Given the description of an element on the screen output the (x, y) to click on. 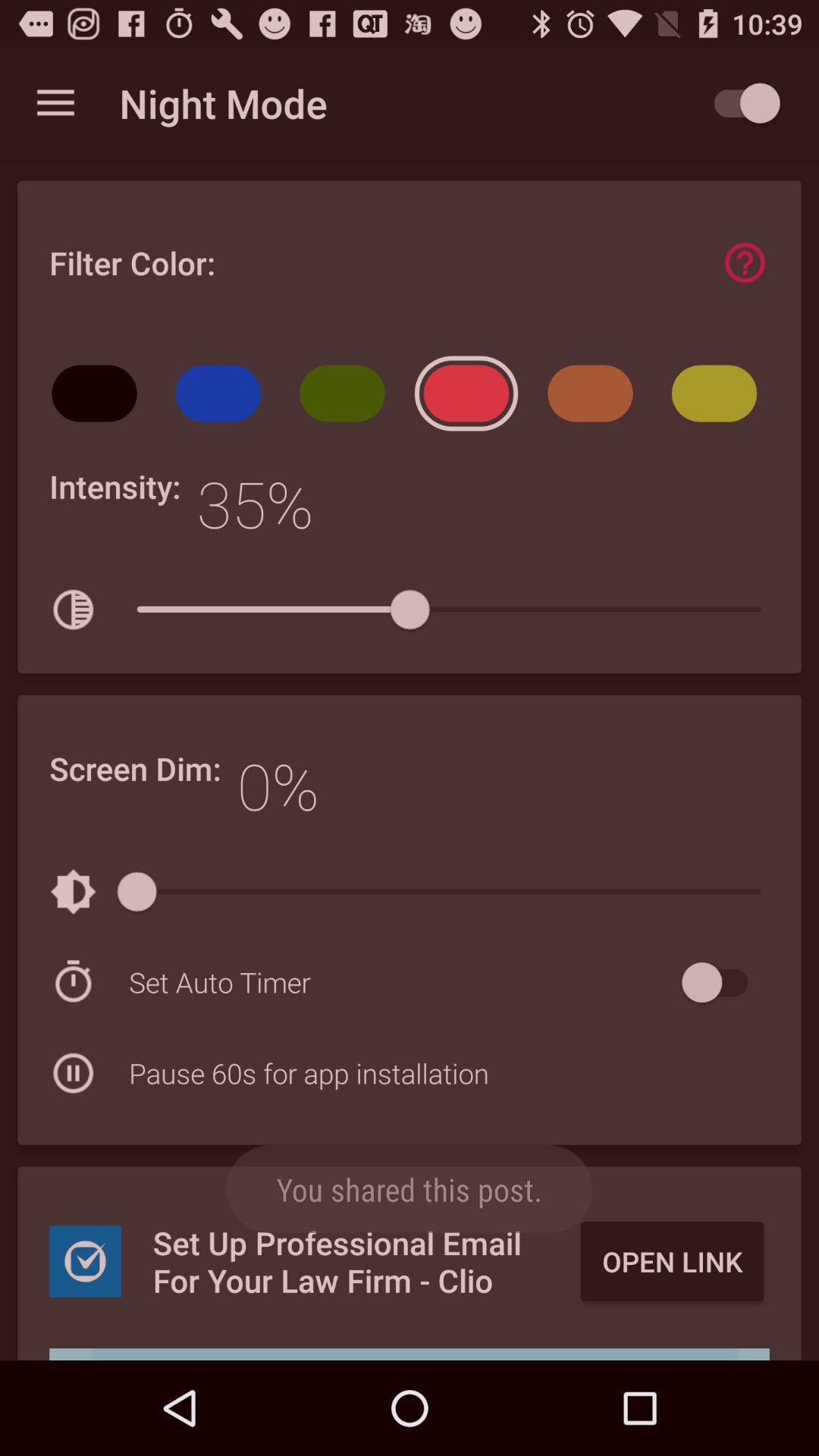
downloading option (409, 1354)
